Given the description of an element on the screen output the (x, y) to click on. 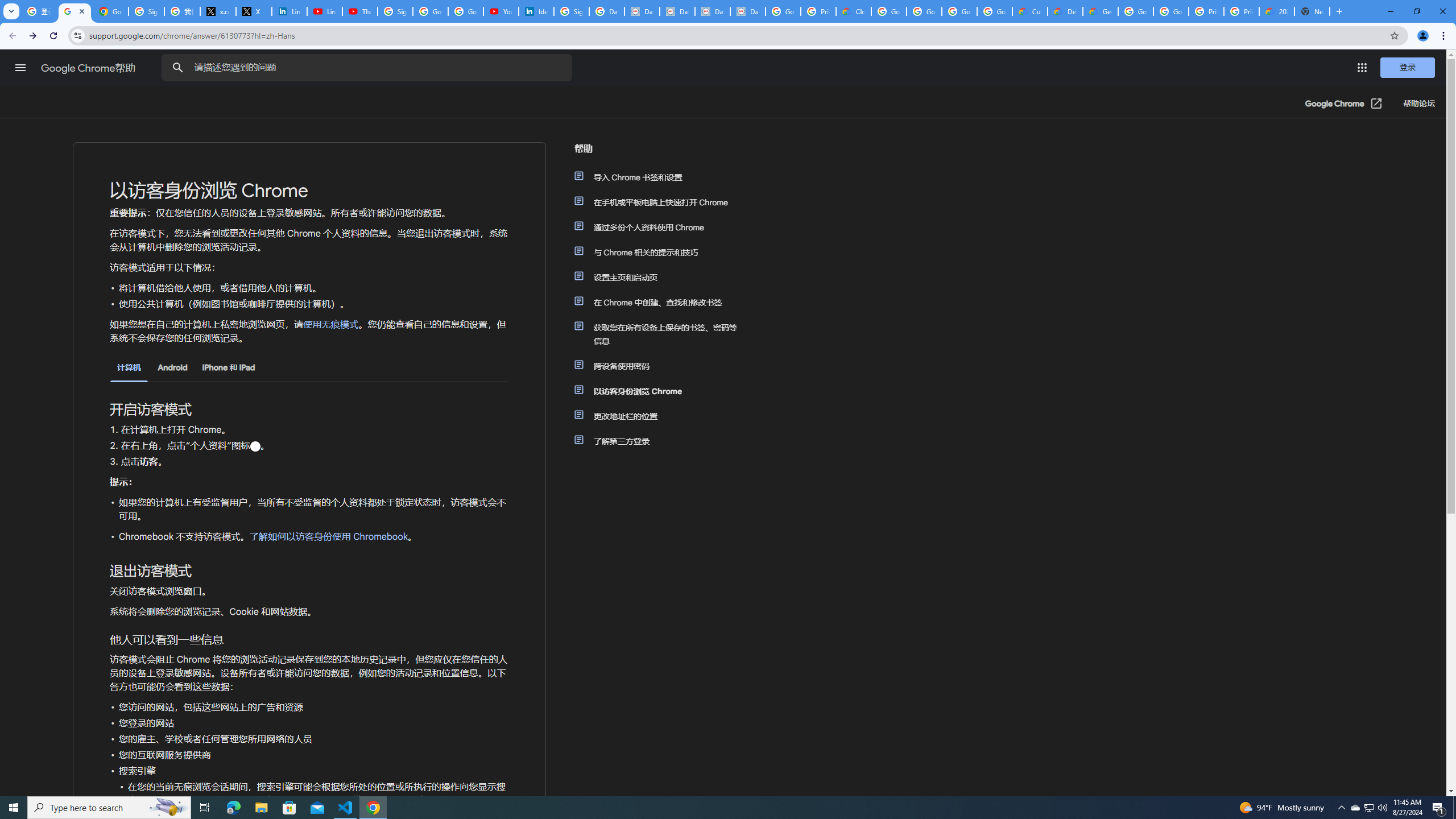
Data Privacy Framework (677, 11)
Cloud Data Processing Addendum | Google Cloud (853, 11)
